Given the description of an element on the screen output the (x, y) to click on. 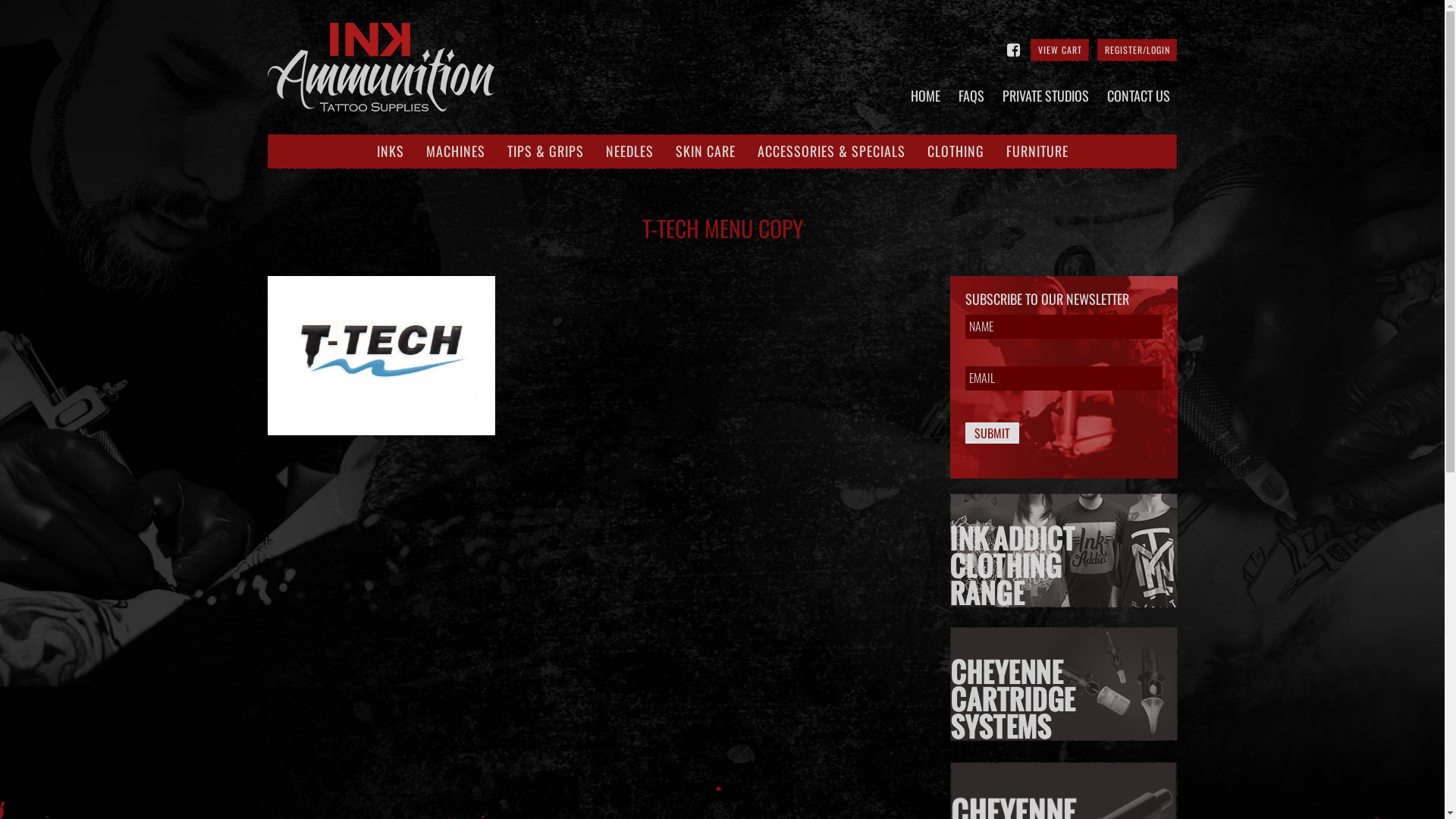
VIEW CART Element type: text (1058, 49)
Submit Element type: text (991, 432)
PRIVATE STUDIOS Element type: text (1045, 95)
FURNITURE Element type: text (1036, 151)
HOME Element type: text (924, 95)
CLOTHING Element type: text (954, 151)
MACHINES Element type: text (455, 151)
TIPS & GRIPS Element type: text (544, 151)
CONTACT US Element type: text (1138, 95)
FAQS Element type: text (971, 95)
NEEDLES Element type: text (628, 151)
INKS Element type: text (389, 151)
SKIN CARE Element type: text (704, 151)
REGISTER/LOGIN Element type: text (1136, 49)
ACCESSORIES & SPECIALS Element type: text (830, 151)
